Given the description of an element on the screen output the (x, y) to click on. 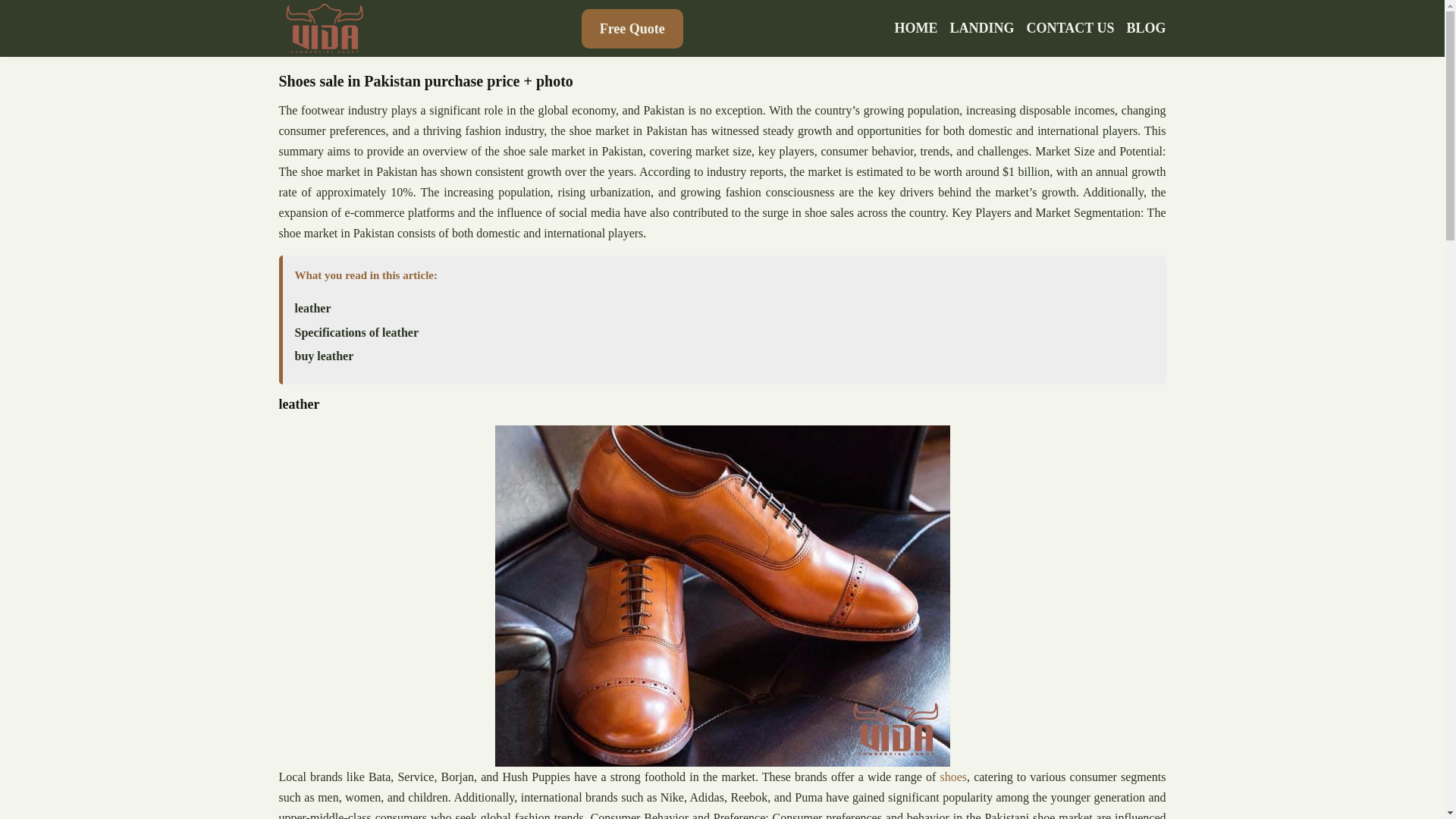
buy leather (323, 356)
Free Quote (631, 28)
BLOG (1145, 28)
Specifications of leather (356, 332)
shoes (952, 776)
leather (312, 308)
CONTACT US (1070, 28)
LANDING (982, 28)
HOME (916, 28)
shoes (952, 776)
